Given the description of an element on the screen output the (x, y) to click on. 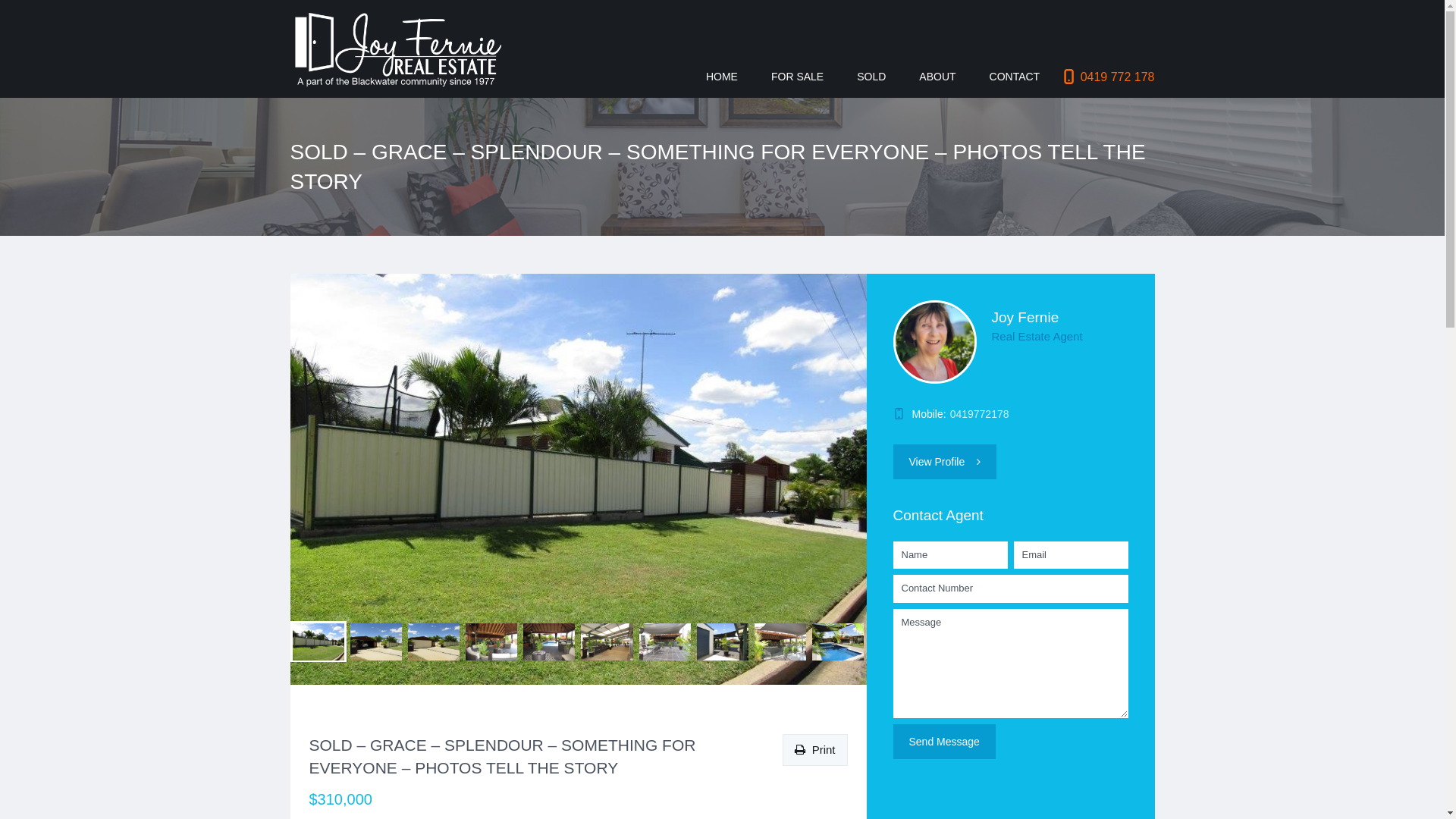
CONTACT Element type: text (1014, 76)
* Please provide your name Element type: hover (950, 554)
View Profile Element type: text (945, 461)
Joy Fernie Element type: text (1025, 317)
HOME Element type: text (721, 76)
* Please provide your contact number Element type: hover (1010, 588)
Send Message Element type: text (944, 741)
SOLD Element type: text (871, 76)
ABOUT Element type: text (937, 76)
FOR SALE Element type: text (797, 76)
* Please provide your message Element type: hover (1010, 663)
* Please provide valid email address Element type: hover (1070, 554)
  Print Element type: text (814, 749)
